Given the description of an element on the screen output the (x, y) to click on. 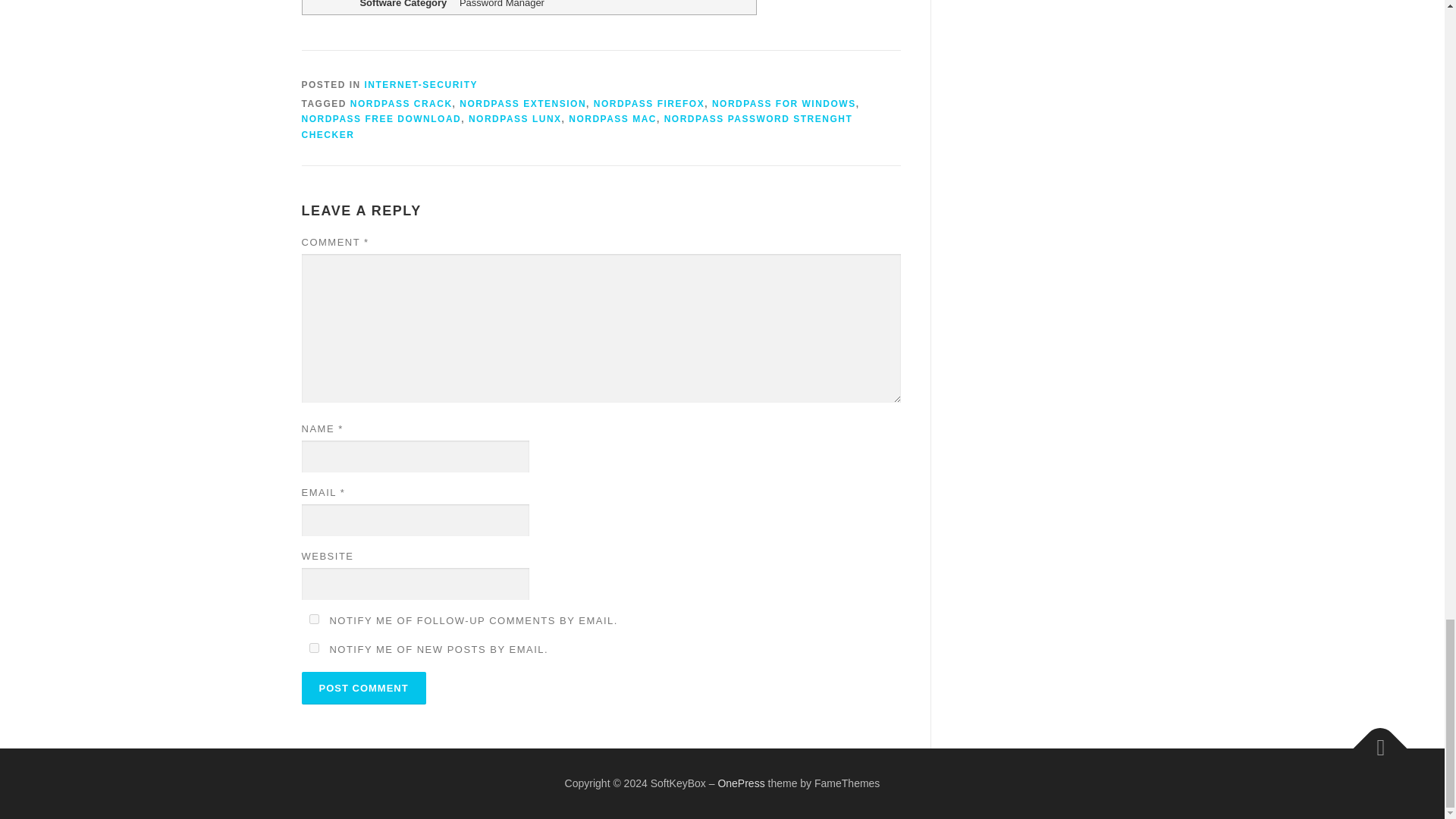
NORDPASS LUNX (515, 118)
Back To Top (1372, 740)
Post Comment (363, 687)
NORDPASS EXTENSION (523, 103)
NORDPASS MAC (612, 118)
OnePress (740, 783)
Post Comment (363, 687)
NORDPASS FOR WINDOWS (783, 103)
NORDPASS PASSWORD STRENGHT CHECKER (577, 126)
subscribe (313, 647)
NORDPASS FIREFOX (649, 103)
INTERNET-SECURITY (422, 83)
NORDPASS CRACK (401, 103)
NORDPASS FREE DOWNLOAD (381, 118)
subscribe (313, 619)
